Given the description of an element on the screen output the (x, y) to click on. 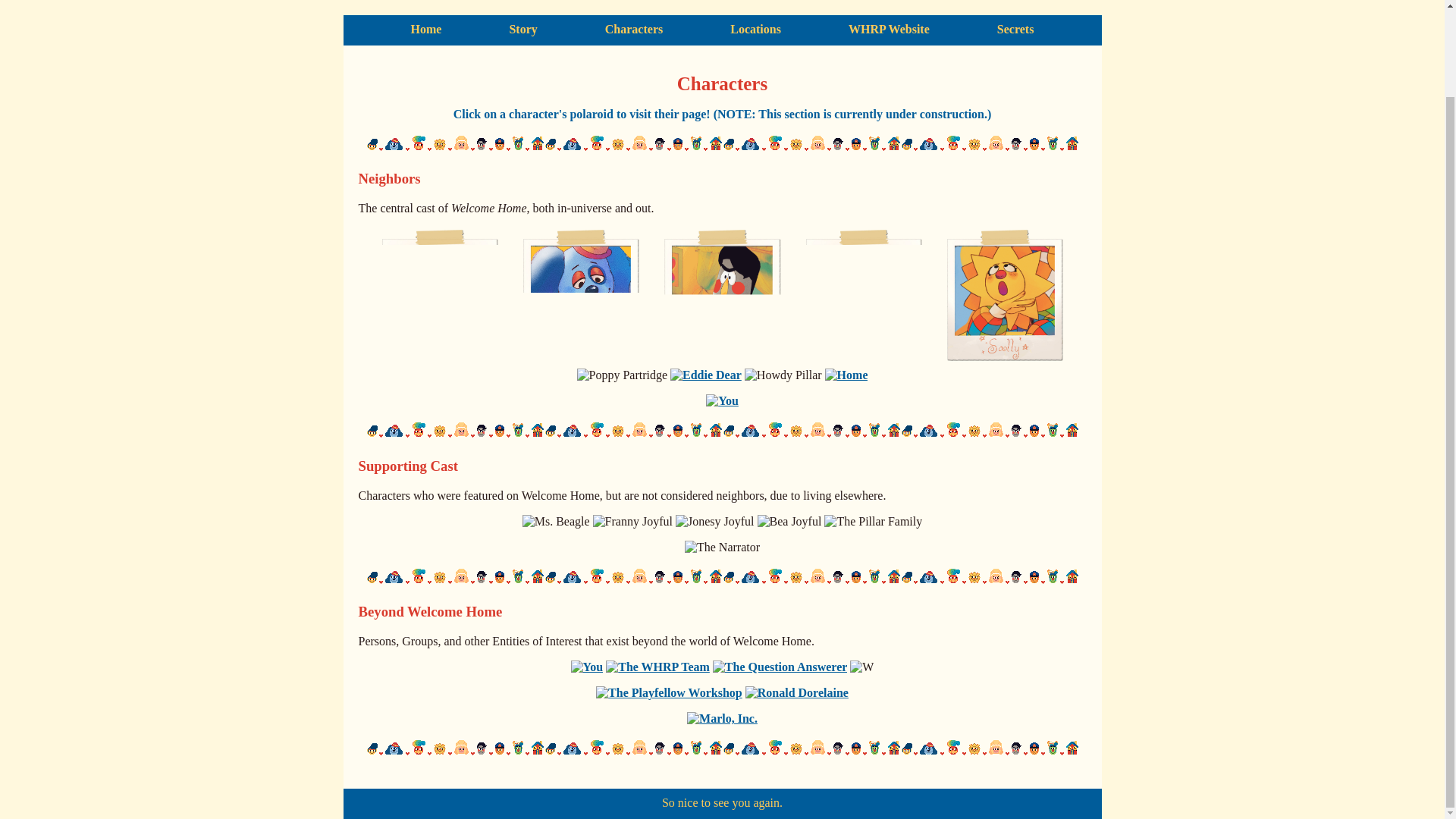
Home (426, 29)
Story (522, 29)
Secrets (1015, 29)
Locations (755, 29)
WHRP Website (889, 29)
Characters (633, 29)
